Given the description of an element on the screen output the (x, y) to click on. 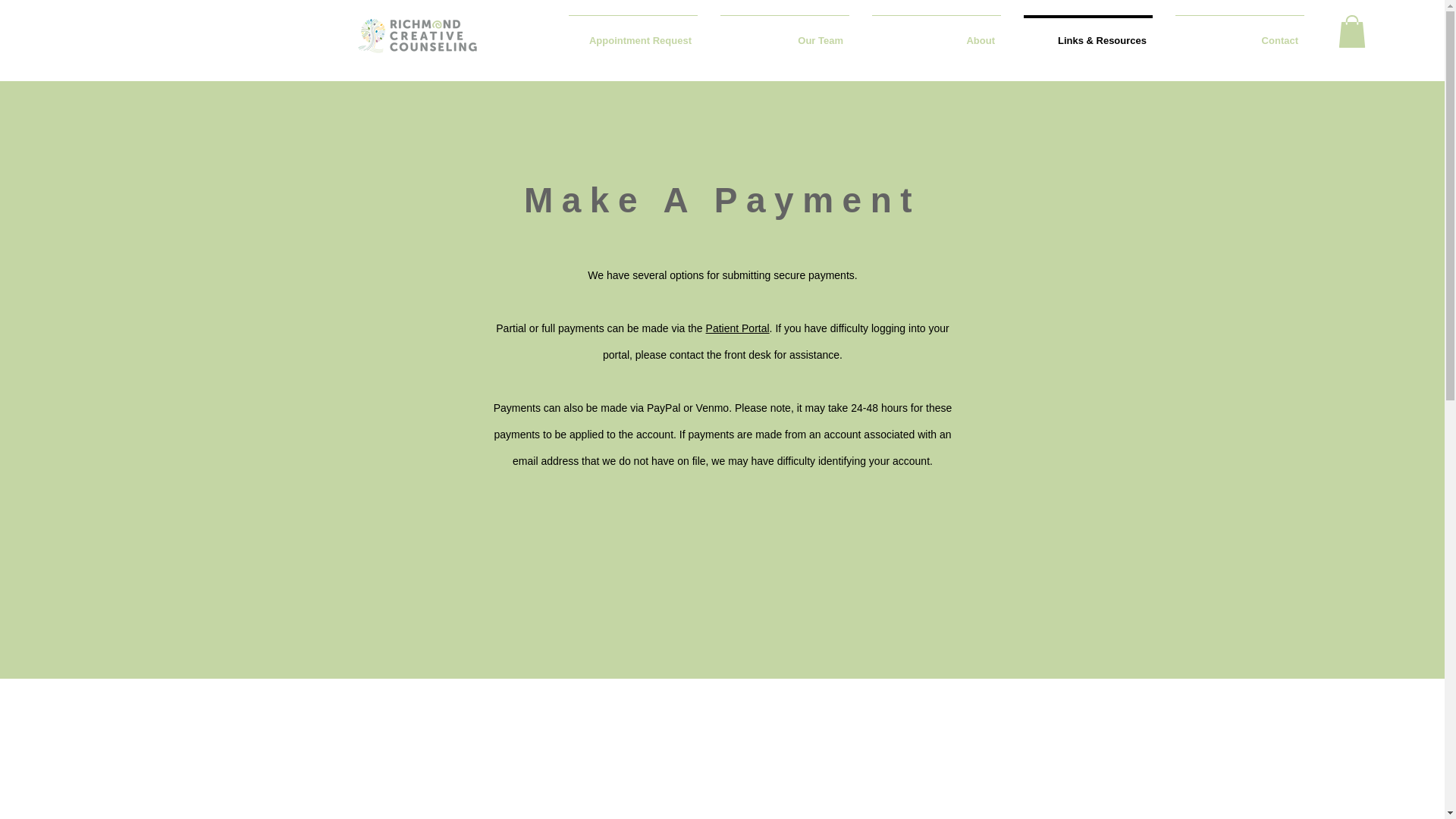
About (935, 34)
Contact (1239, 34)
Appointment Request (633, 34)
Patient Portal (738, 328)
Our Team (784, 34)
